Given the description of an element on the screen output the (x, y) to click on. 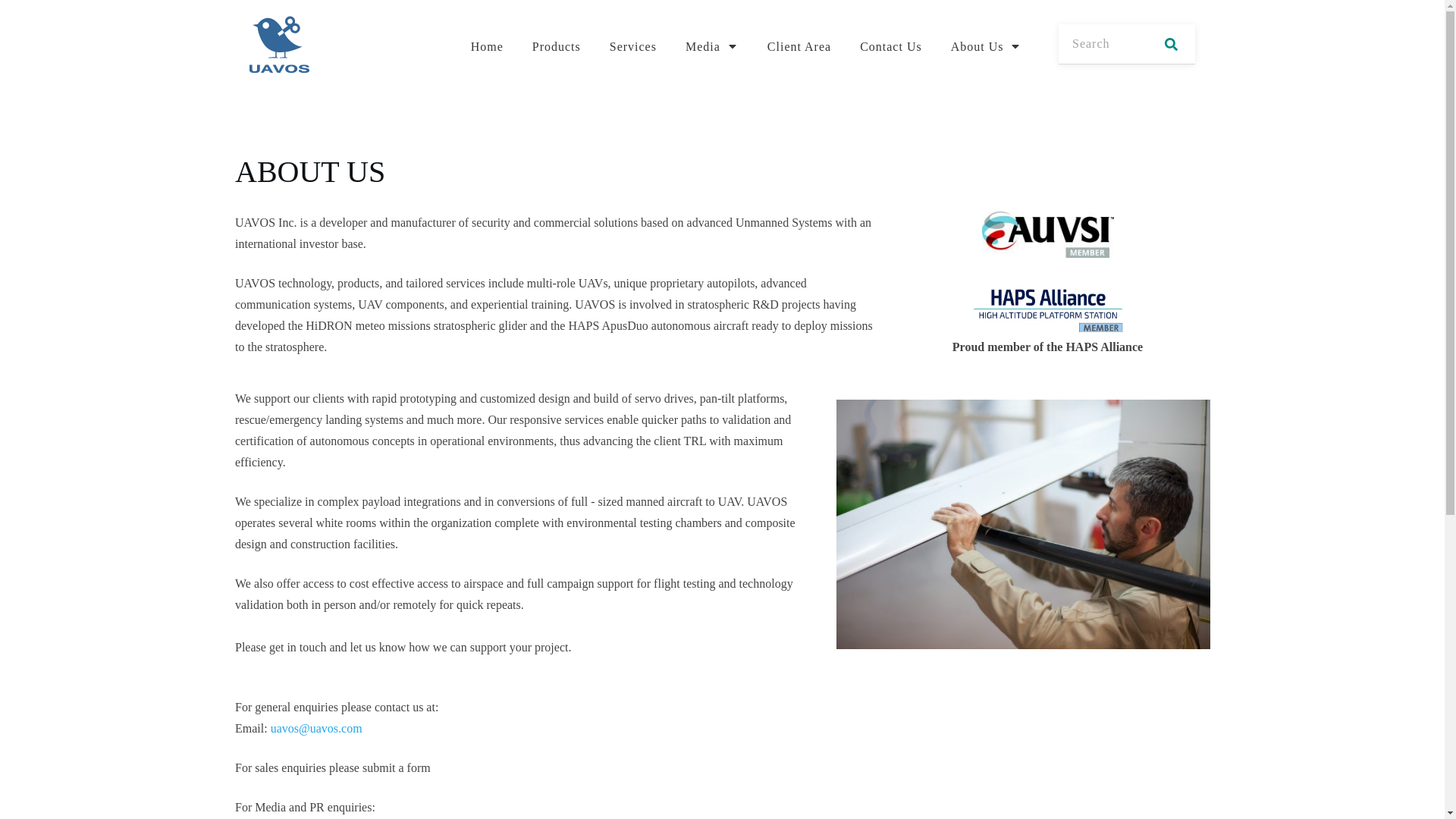
Client Area (799, 46)
Services (633, 46)
Contact Us (890, 46)
Products (556, 46)
Media (711, 46)
HAPSAllianceLogo (1047, 309)
team (1022, 524)
About Us (986, 46)
Home (486, 46)
